Given the description of an element on the screen output the (x, y) to click on. 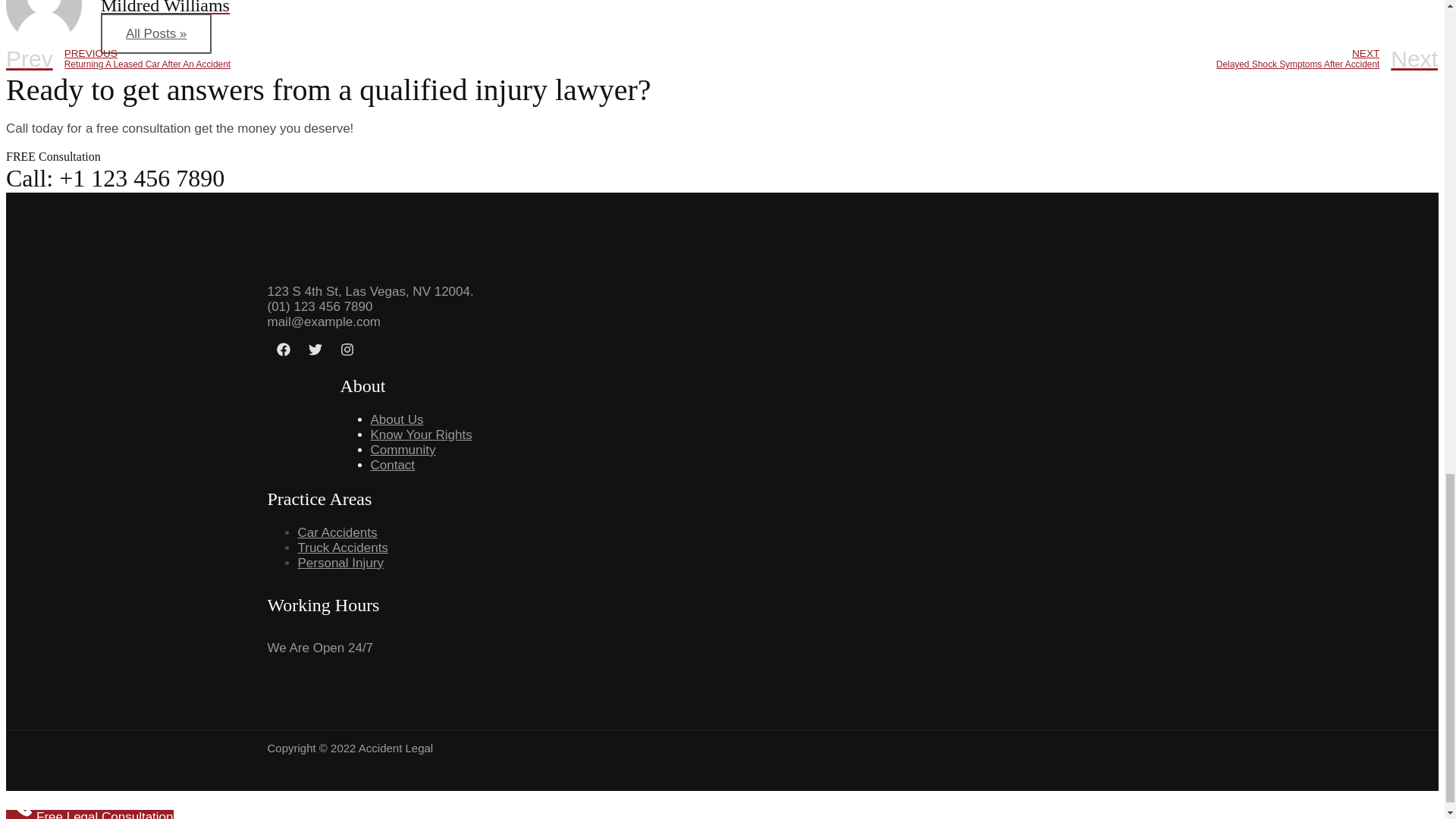
Community (363, 58)
About Us (402, 450)
Car Accidents (396, 419)
Personal Injury (337, 532)
Truck Accidents (339, 563)
Contact (342, 547)
Know Your Rights (391, 464)
